Given the description of an element on the screen output the (x, y) to click on. 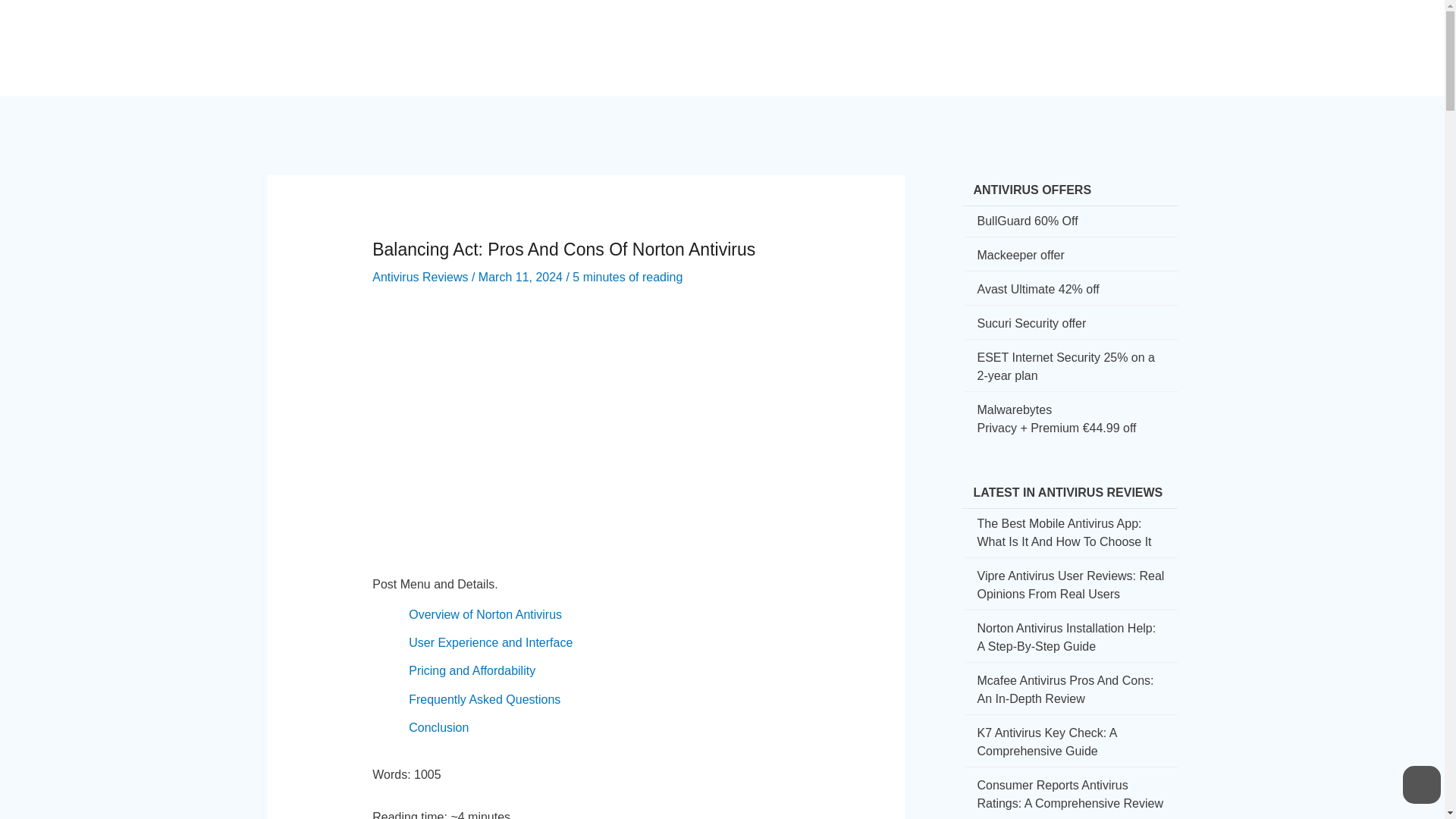
10 Best (1064, 35)
Finances (929, 35)
Misc (1122, 35)
Frequently Asked Questions (484, 698)
Overview of Norton Antivirus (485, 614)
User Experience and Interface (490, 642)
Pricing and Affordability (472, 670)
Gaming (999, 35)
Social (863, 35)
Cyber Security (713, 35)
